Given the description of an element on the screen output the (x, y) to click on. 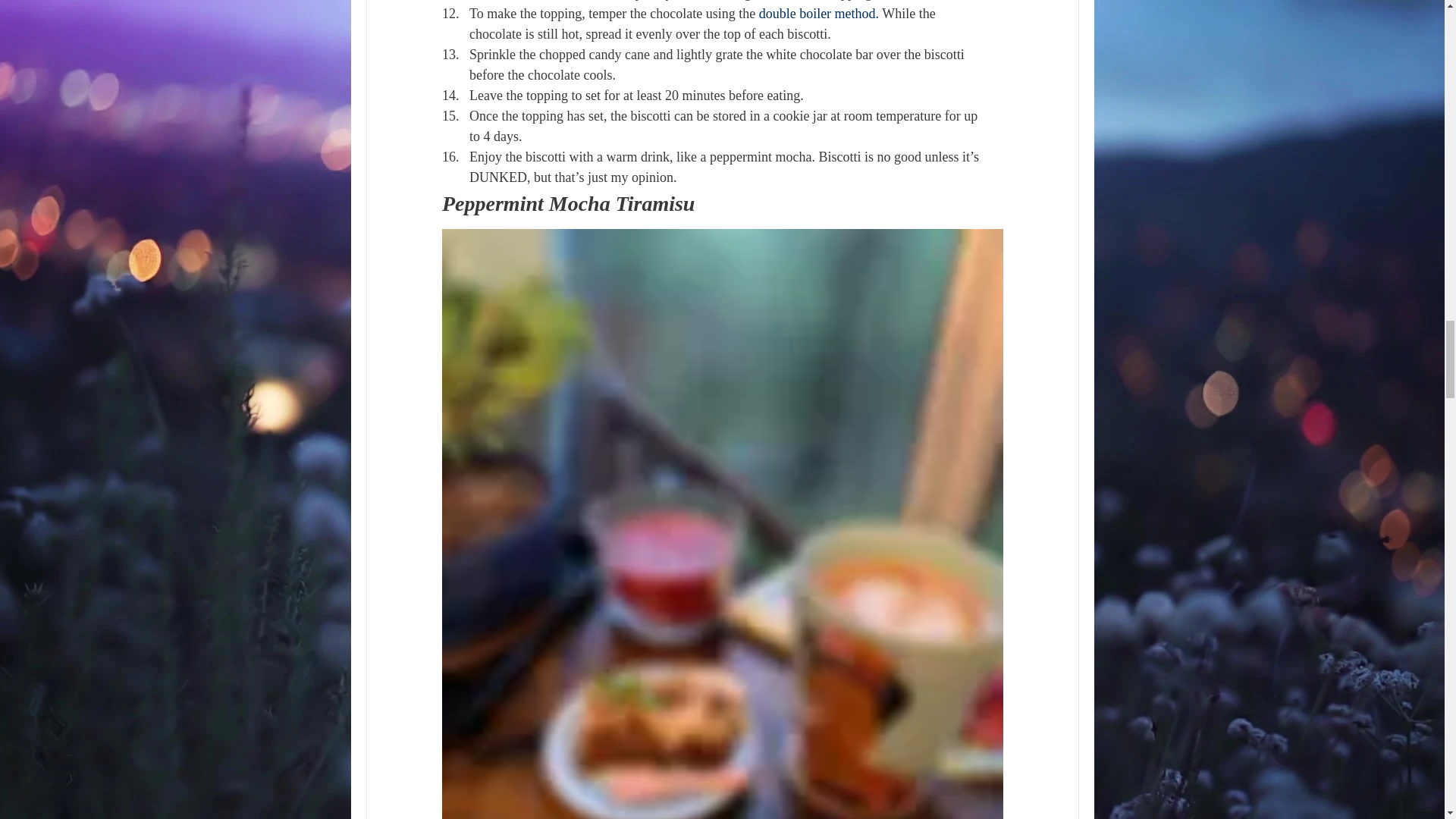
double boiler method.  (820, 13)
